Given the description of an element on the screen output the (x, y) to click on. 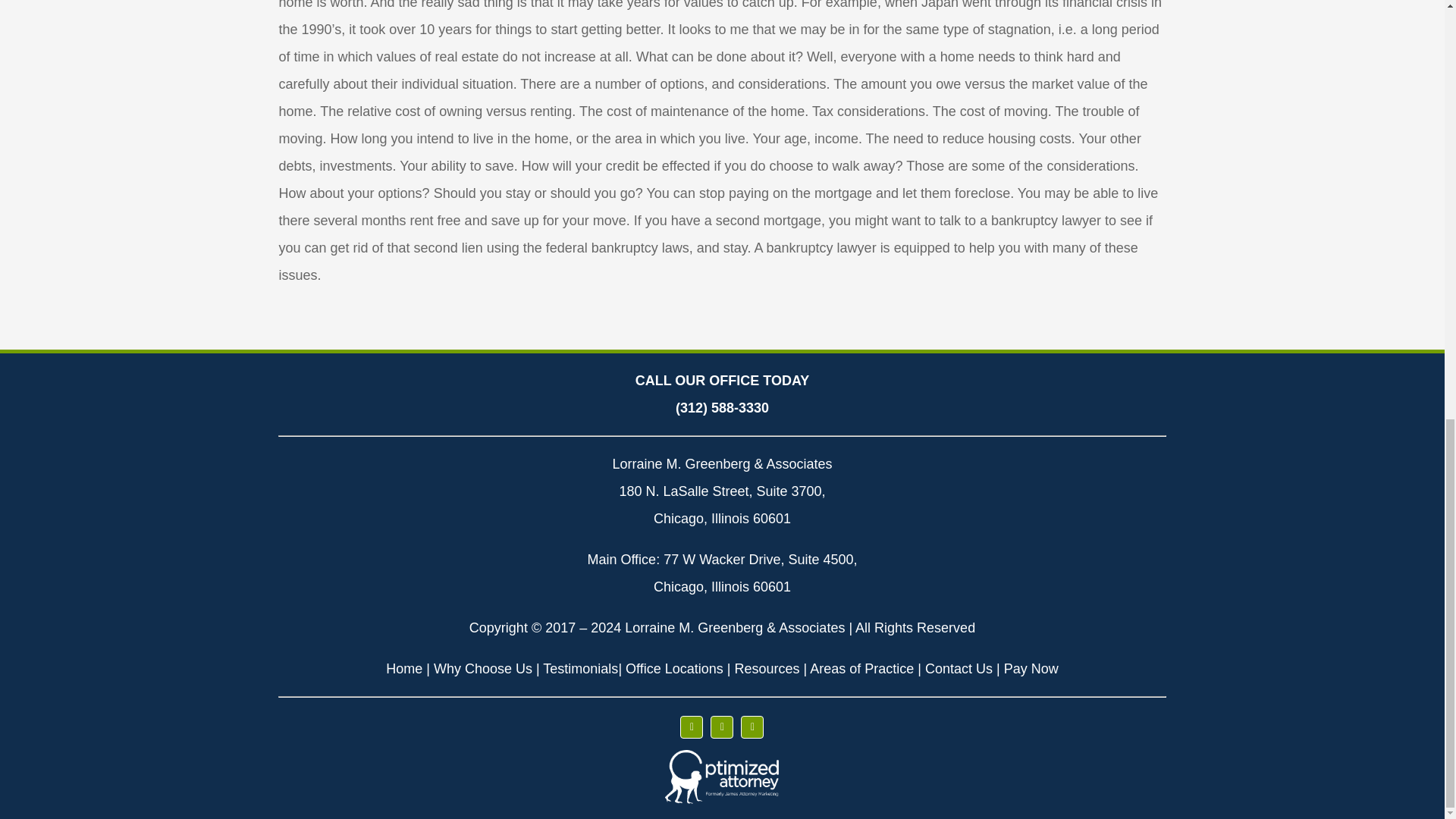
LinkedIn (751, 726)
Twitter (721, 726)
Facebook (691, 726)
